Given the description of an element on the screen output the (x, y) to click on. 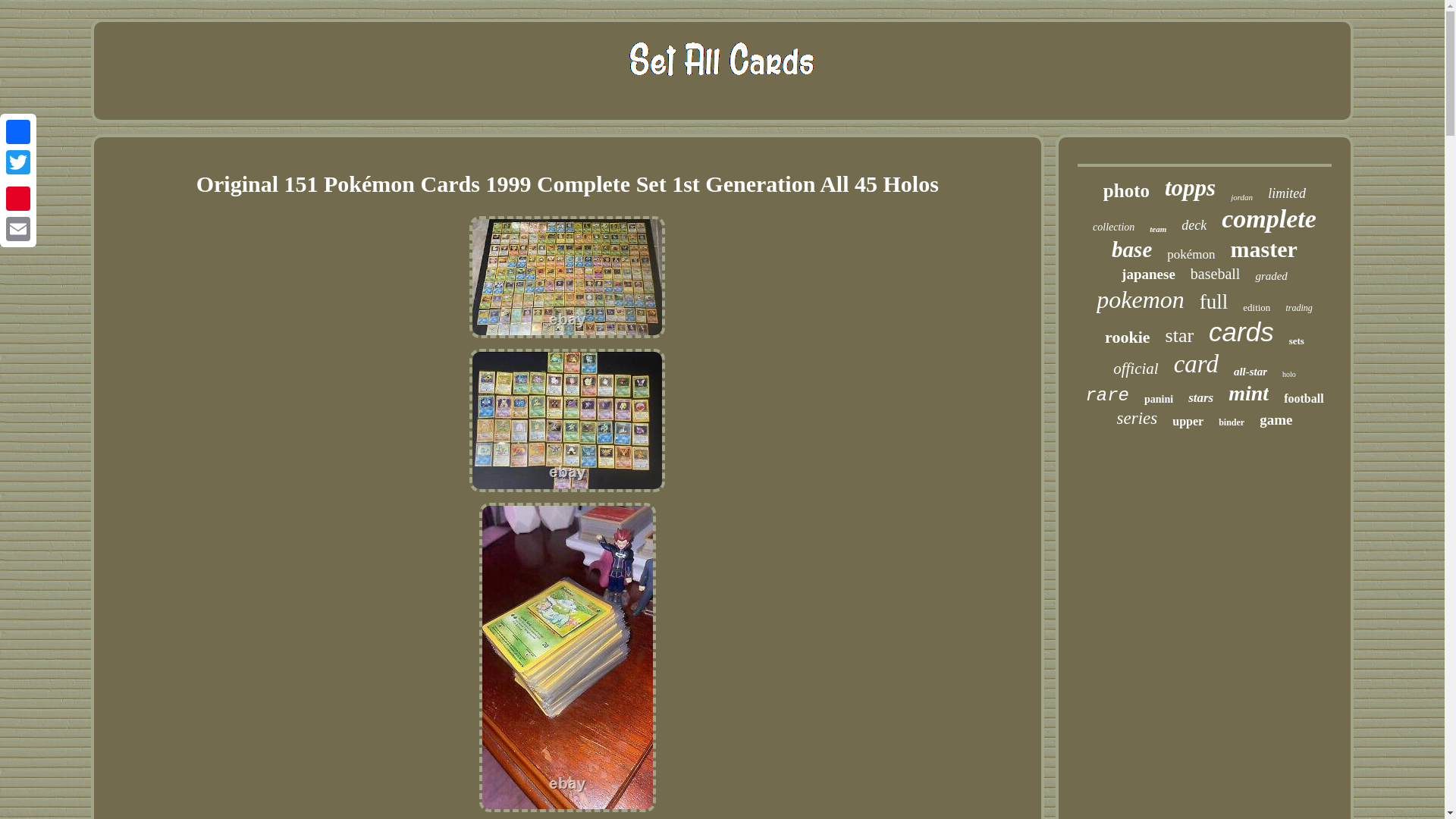
base (1131, 249)
Email (17, 228)
edition (1256, 307)
card (1195, 364)
photo (1126, 190)
Pinterest (17, 198)
rookie (1127, 337)
collection (1113, 227)
cards (1241, 331)
Twitter (17, 162)
japanese (1147, 274)
jordan (1241, 196)
pokemon (1140, 299)
team (1158, 228)
complete (1268, 218)
